Given the description of an element on the screen output the (x, y) to click on. 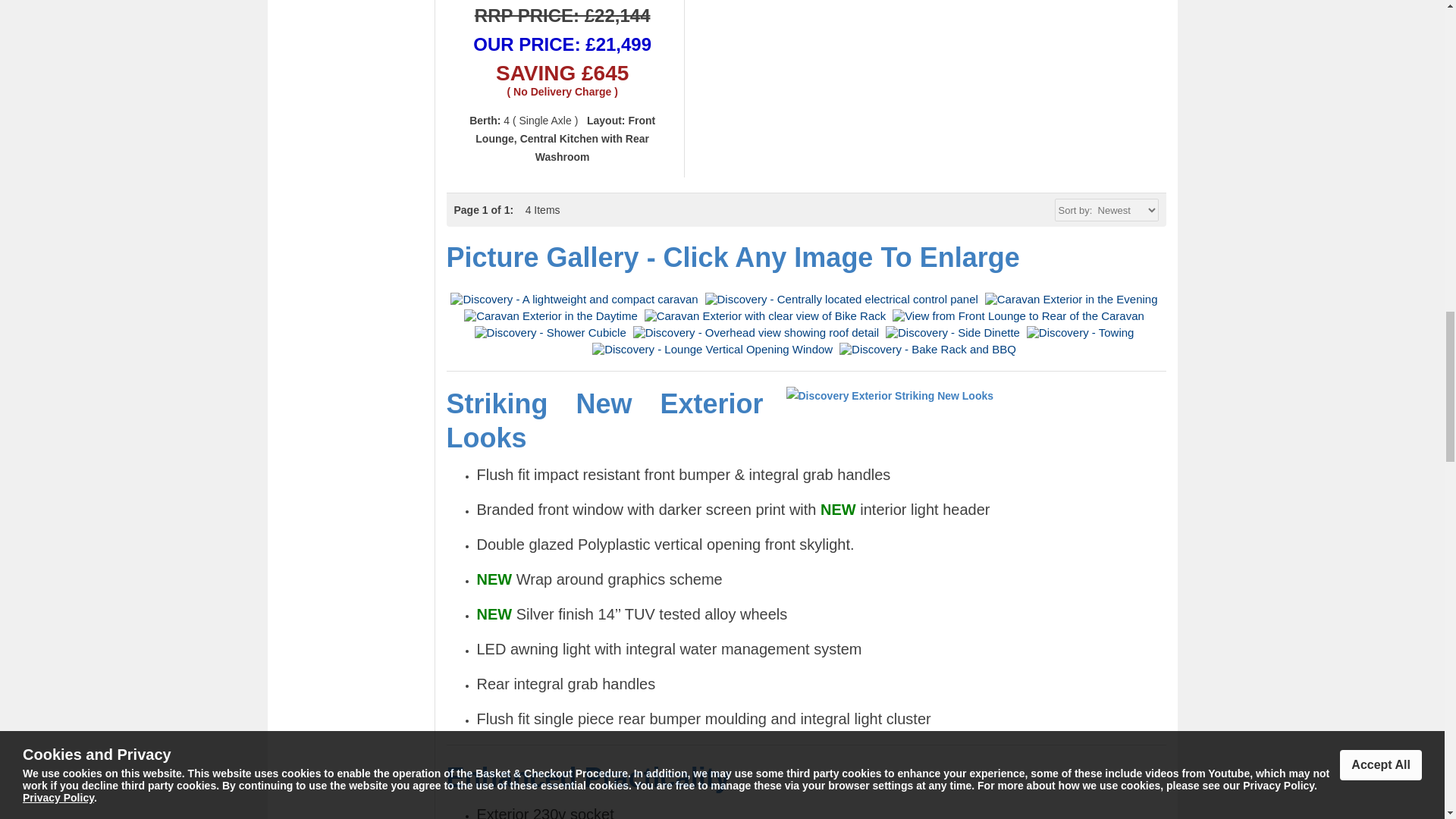
Bailey Discovery - A lightweight and compact caravan (575, 298)
Bailey Discovery - Overhead view showing roof detail (757, 332)
Bailey Discovery - Caravan Exterior in the Daytime (553, 315)
Bailey Discovery - Shower Cubicle (552, 332)
